Given the description of an element on the screen output the (x, y) to click on. 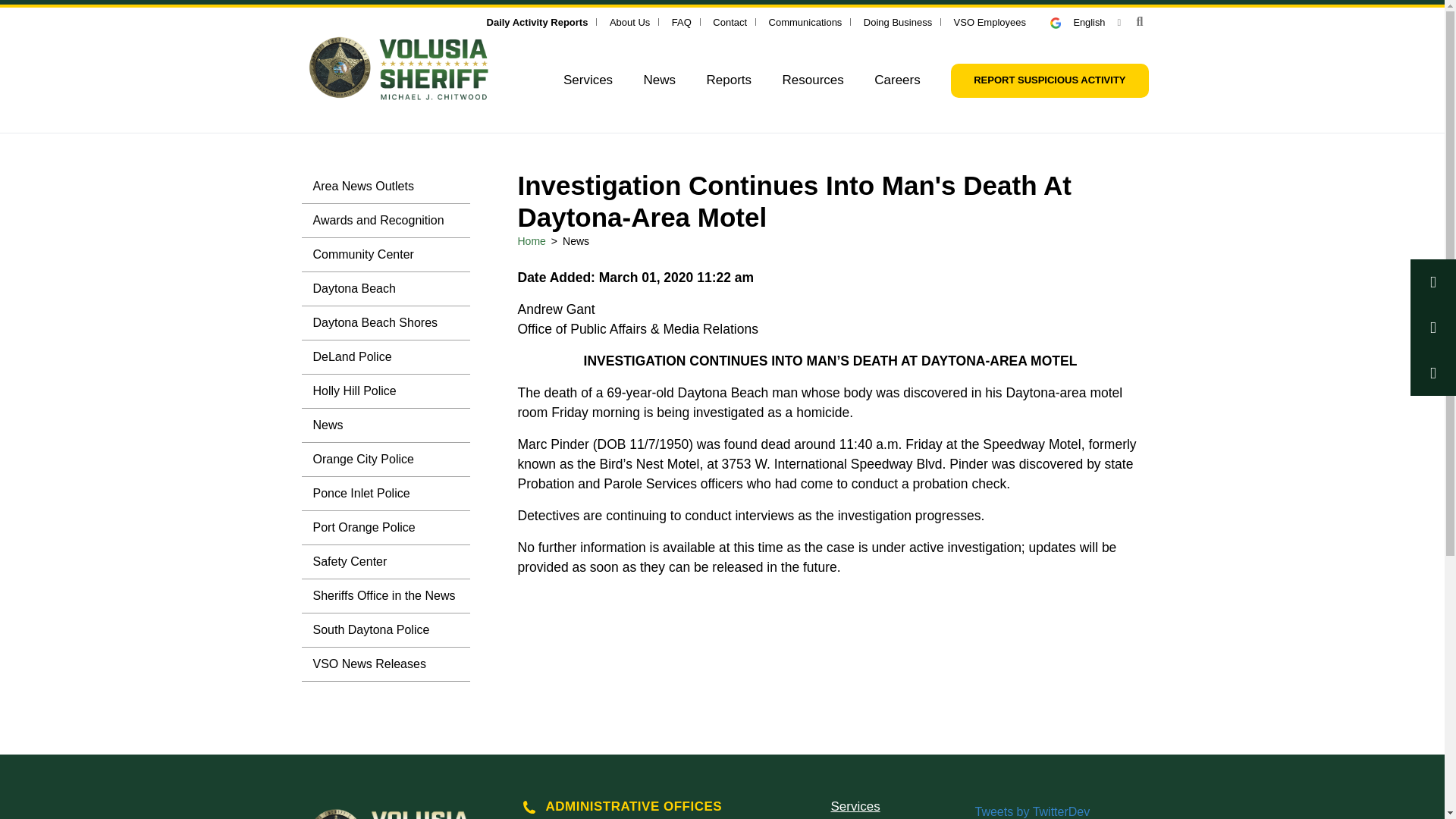
Doing Business (897, 21)
Communications (805, 21)
Translate (1061, 22)
Daily Activity Reports (537, 21)
FAQ (681, 21)
About Us (629, 21)
Contact (729, 21)
English (1085, 21)
VSO Employees (989, 21)
Translate (1085, 21)
